Given the description of an element on the screen output the (x, y) to click on. 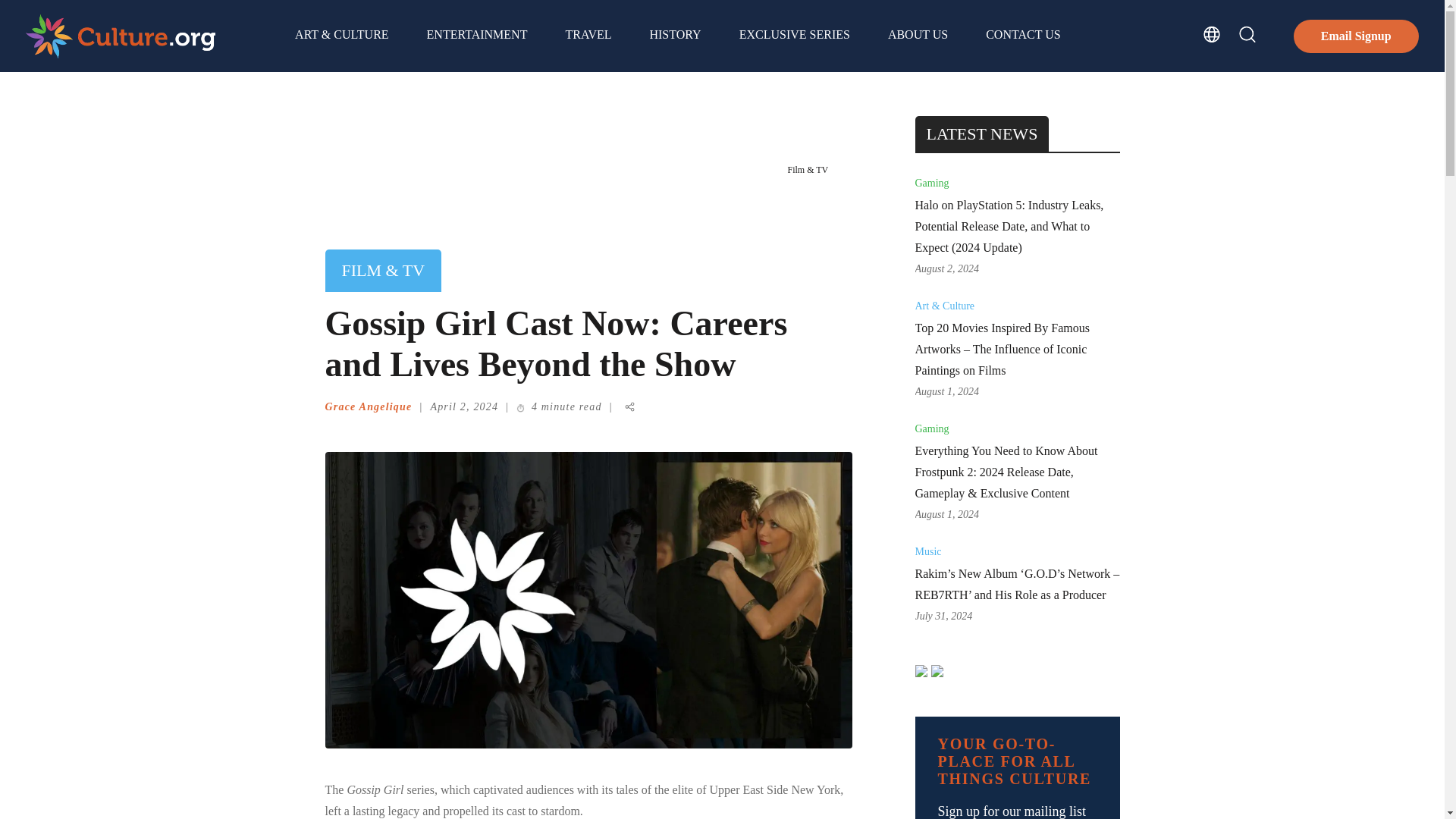
culture (120, 35)
Email Signup (1356, 36)
Globel (1212, 34)
ENTERTAINMENT (476, 36)
EXCLUSIVE SERIES (794, 36)
culture (120, 51)
CONTACT US (1022, 36)
search (1247, 34)
